Given the description of an element on the screen output the (x, y) to click on. 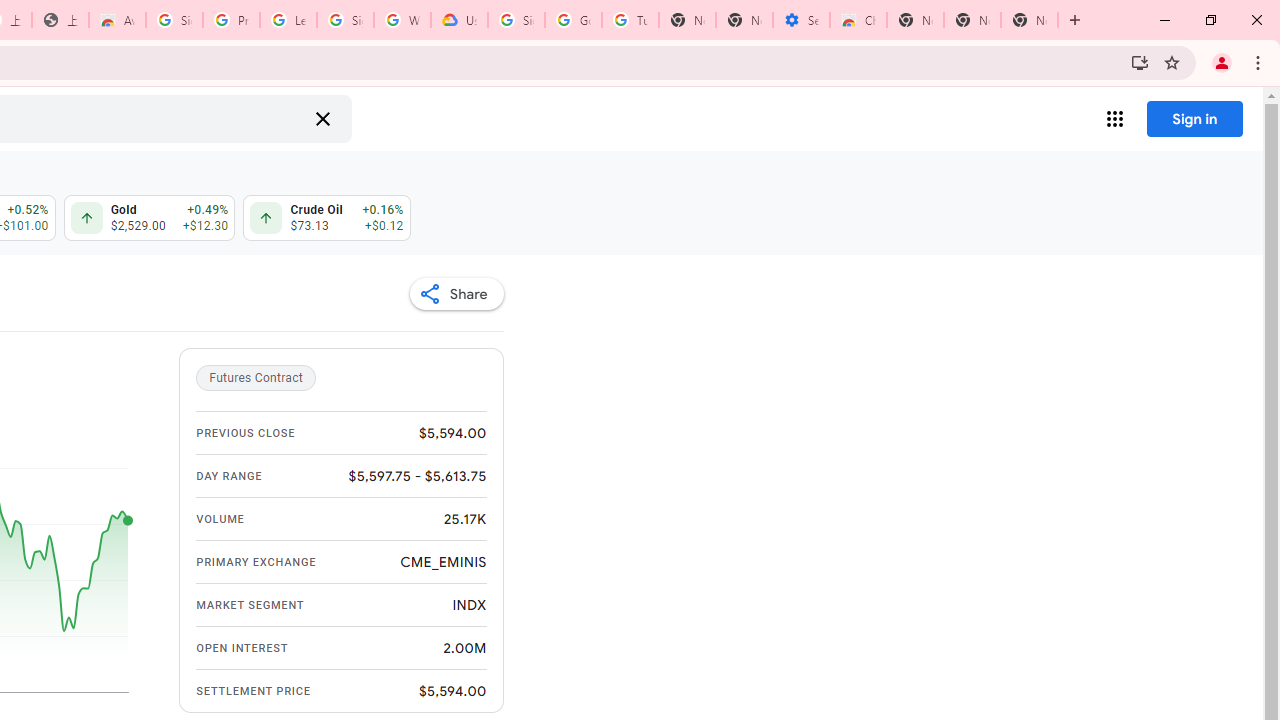
New Tab (1029, 20)
Crude Oil $73.13 Up by 0.16% +$0.12 (326, 218)
Share (456, 293)
Chrome Web Store - Accessibility extensions (858, 20)
Sign in - Google Accounts (345, 20)
Settings - Accessibility (801, 20)
Turn cookies on or off - Computer - Google Account Help (630, 20)
Gold $2,529.00 Up by 0.49% +$12.30 (148, 218)
